Given the description of an element on the screen output the (x, y) to click on. 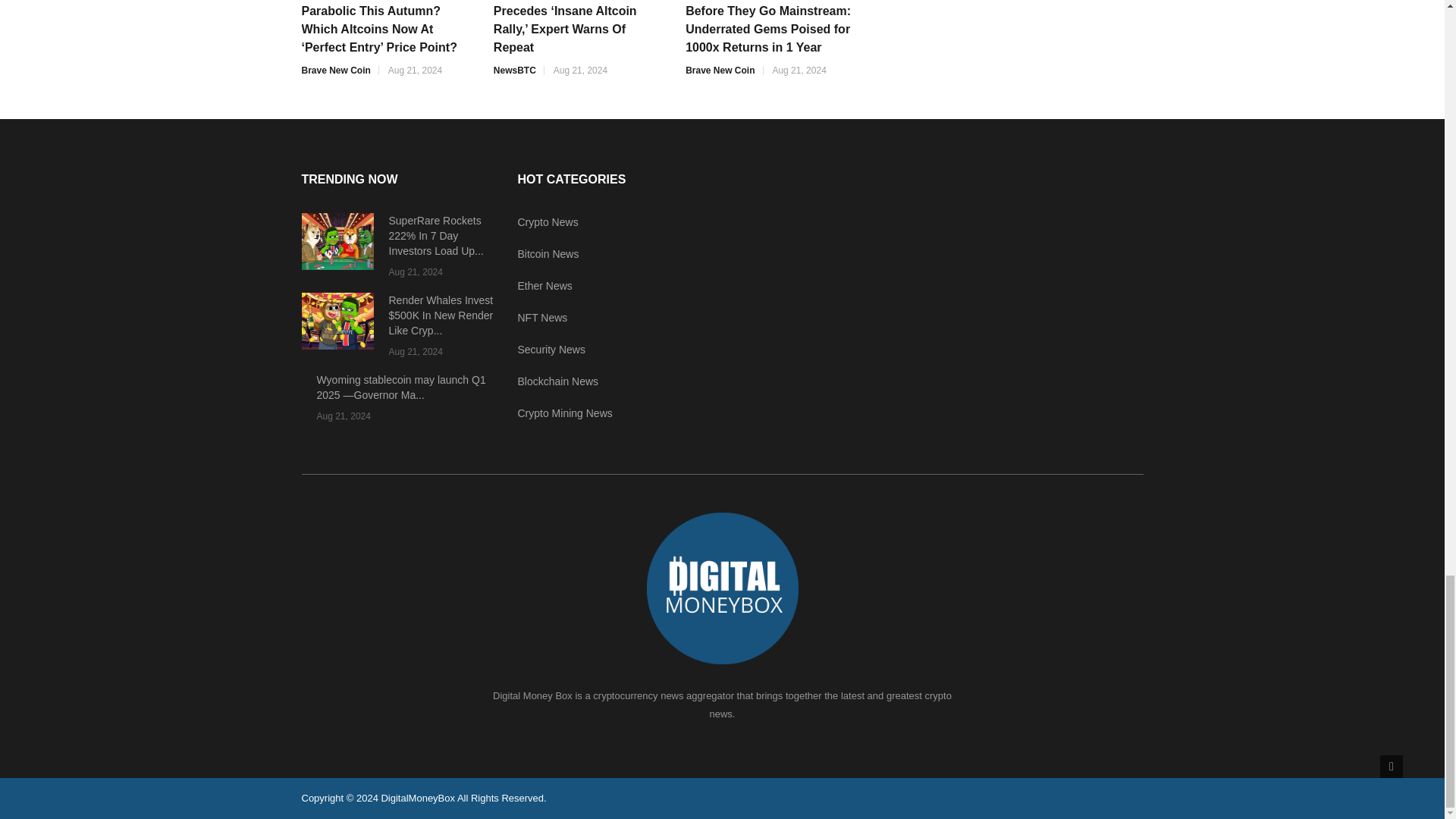
Brave New Coin (336, 70)
NewsBTC (514, 70)
Brave New Coin (719, 70)
